Given the description of an element on the screen output the (x, y) to click on. 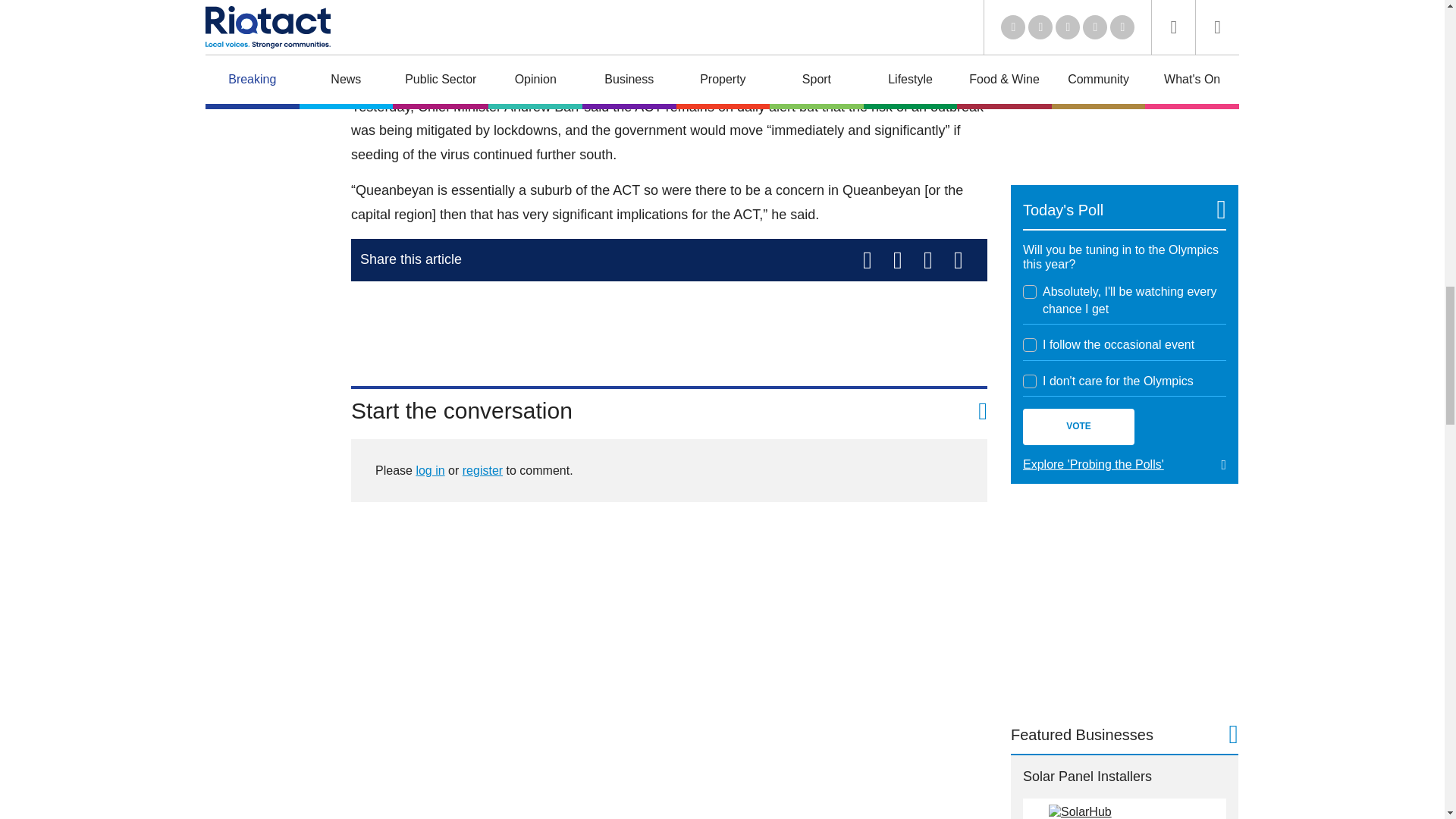
2044 (1029, 345)
Zango Sales (1124, 80)
   Vote    (1078, 426)
2045 (1029, 381)
2043 (1029, 291)
